Given the description of an element on the screen output the (x, y) to click on. 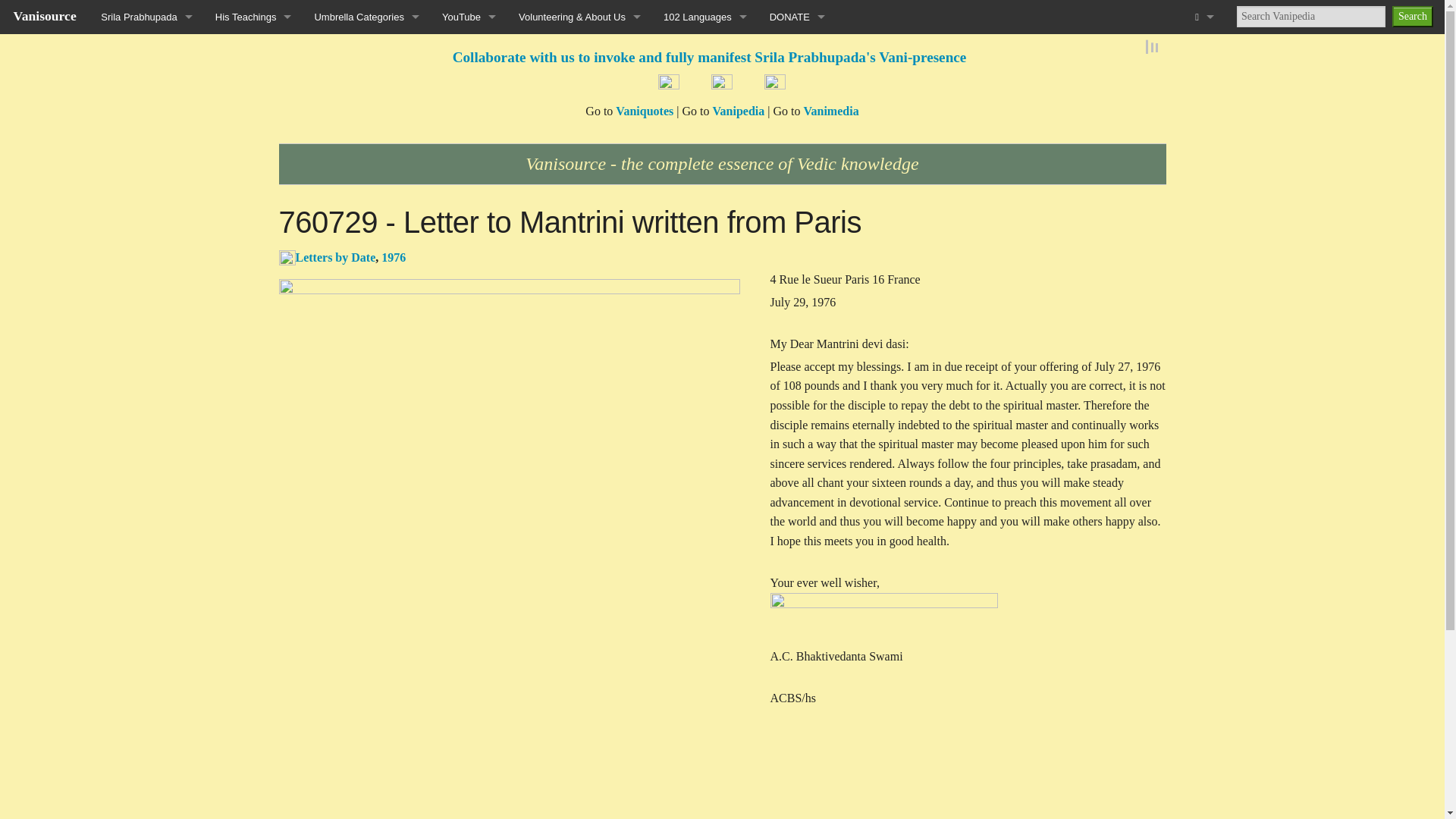
Vanisource (44, 15)
vanipedia:Main Page (737, 110)
vaniquotes:Main Page (643, 110)
Srila Prabhupada (145, 17)
Search (1411, 16)
Category:1976 - Letters (393, 256)
vanimedia:Main Page (831, 110)
Category:Letters - by Date (287, 256)
Category:Letters - by Date (335, 256)
